Given the description of an element on the screen output the (x, y) to click on. 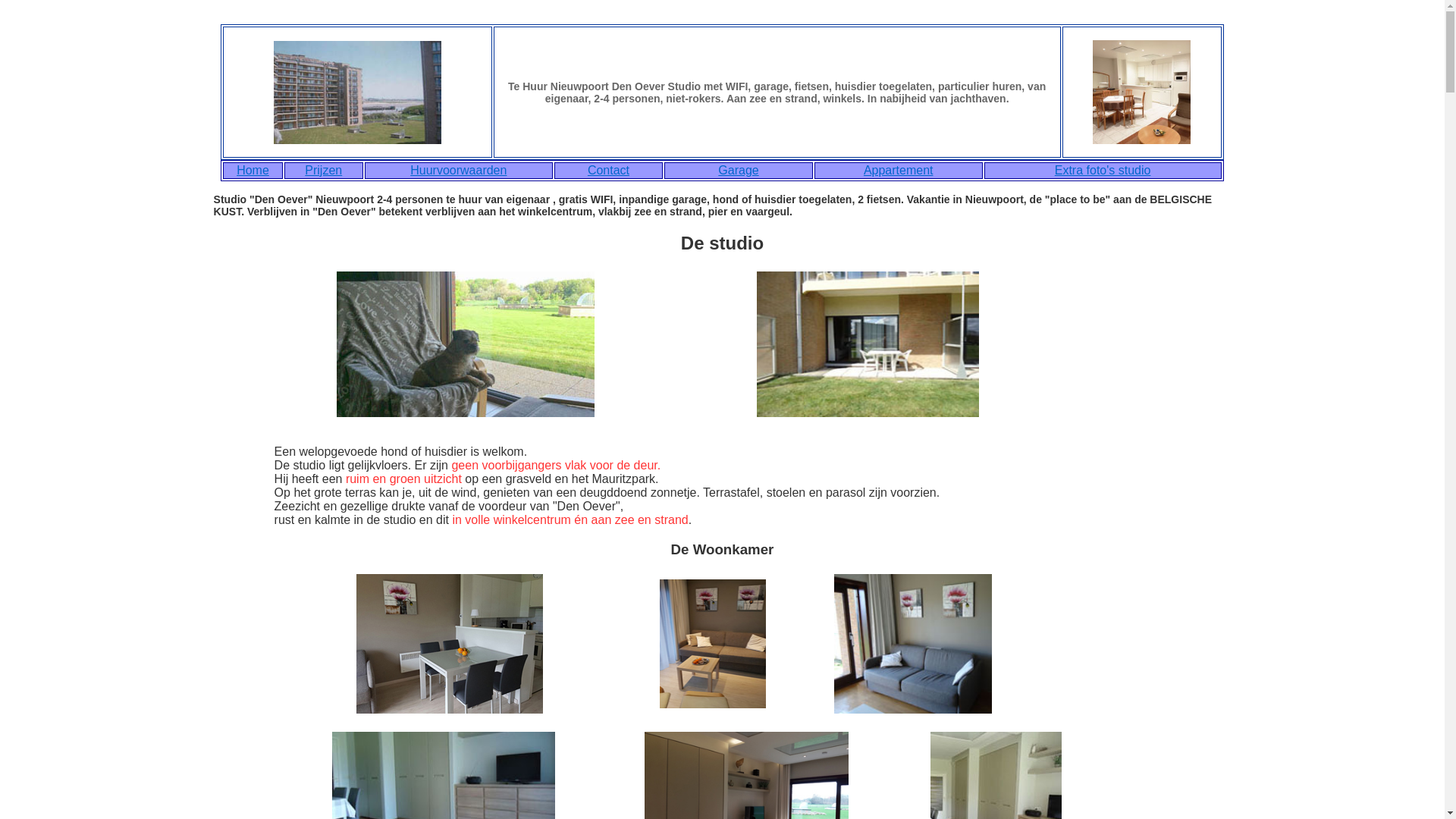
Prijzen Element type: text (323, 169)
Huurvoorwaarden Element type: text (458, 169)
Home Element type: text (252, 169)
Appartement Element type: text (898, 169)
Contact Element type: text (608, 169)
Extra foto's studio Element type: text (1102, 169)
Garage Element type: text (738, 169)
